Given the description of an element on the screen output the (x, y) to click on. 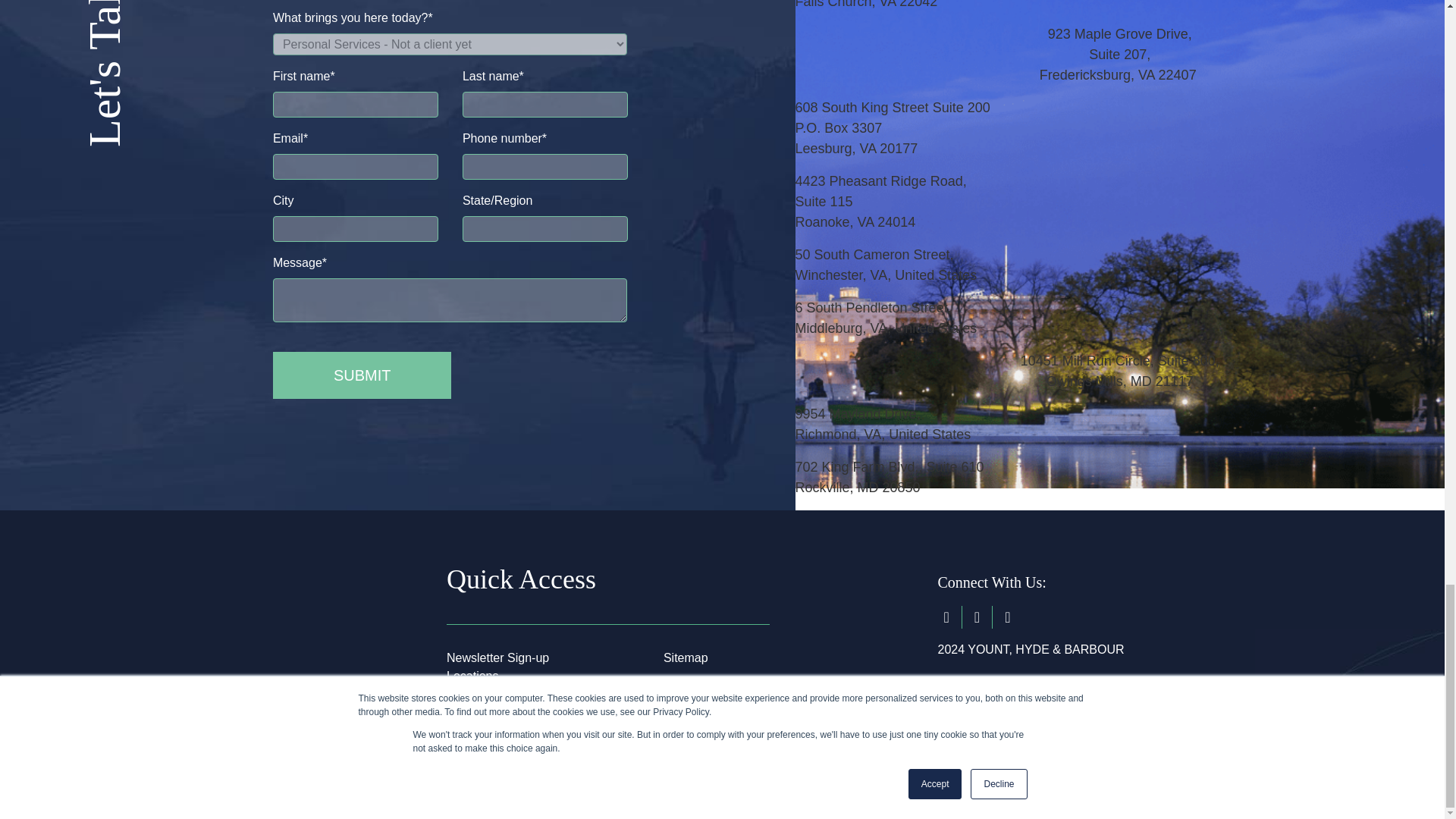
Submit (362, 375)
